Given the description of an element on the screen output the (x, y) to click on. 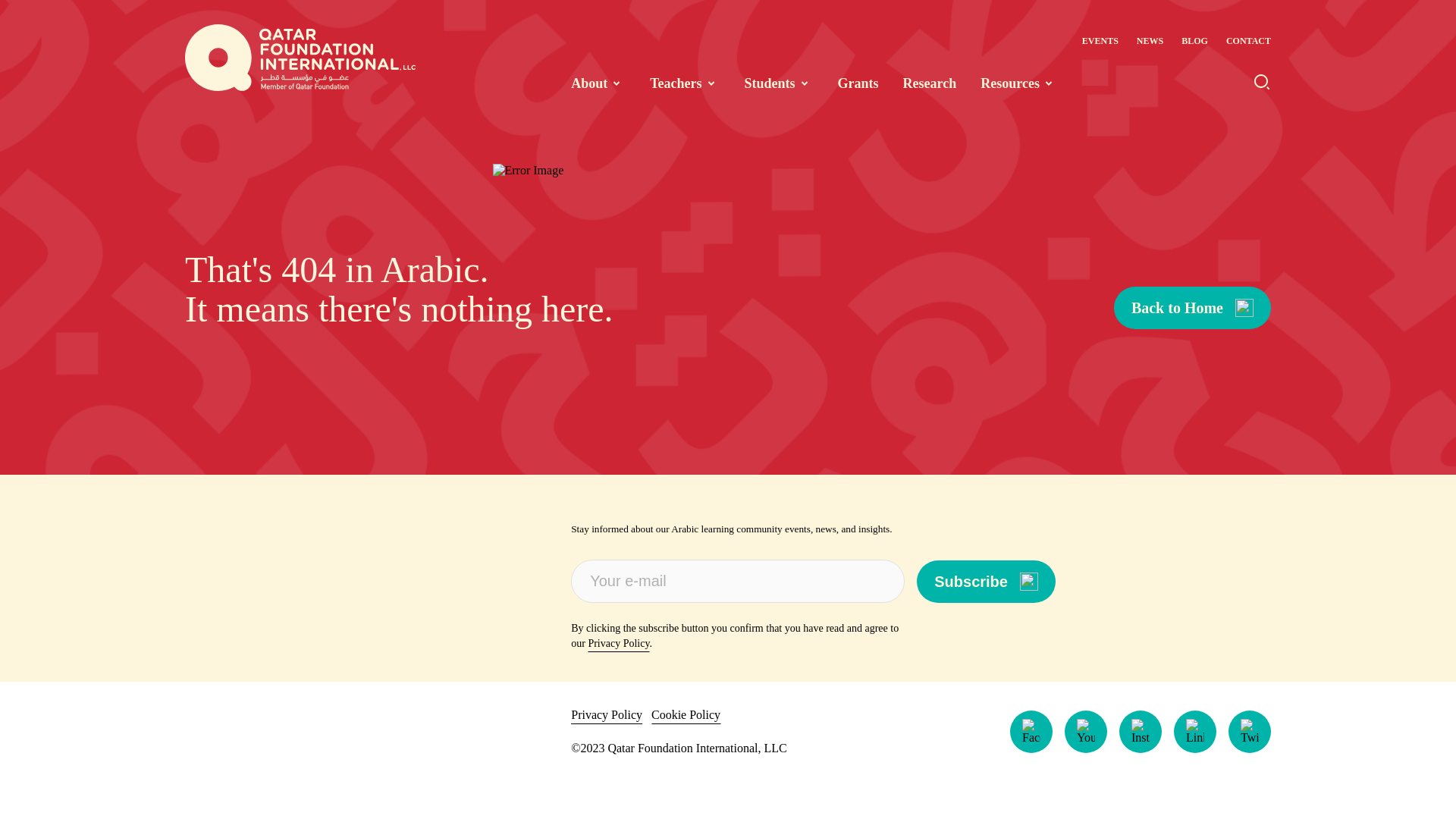
Teachers (684, 83)
NEWS (1150, 40)
Resources (1018, 83)
BLOG (1194, 40)
About (598, 83)
Grants (858, 83)
EVENTS (1099, 40)
CONTACT (1248, 40)
Back to Home (1192, 307)
Students (778, 83)
